Given the description of an element on the screen output the (x, y) to click on. 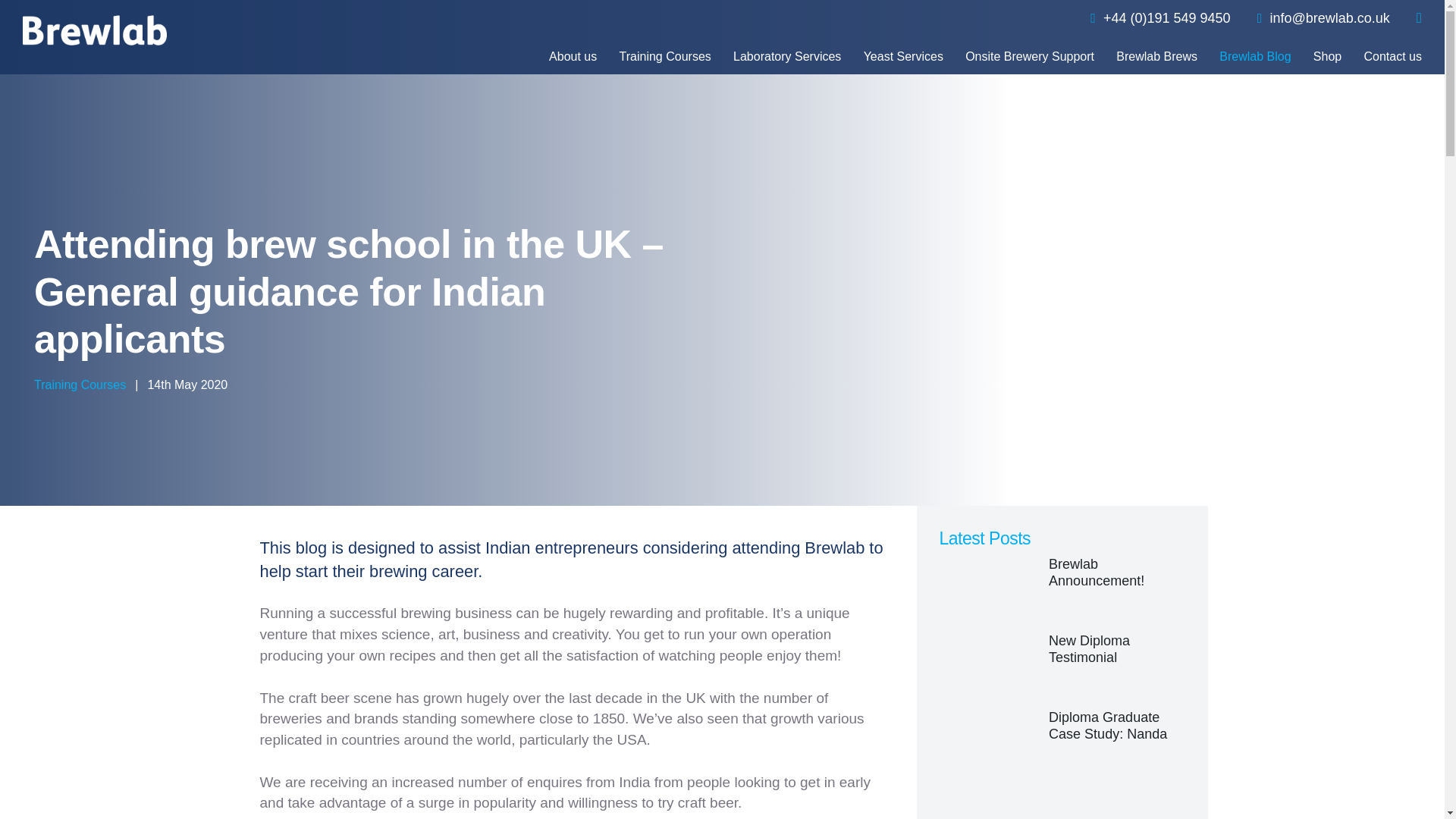
Brewlab Blog (1254, 57)
About us (572, 57)
Contact us (1393, 57)
Onsite Brewery Support (1029, 57)
Shop (1327, 57)
Yeast Services (903, 57)
Training Courses (79, 384)
New Diploma Testimonial (1062, 663)
Brewlab Brews (1156, 57)
Diploma Graduate Case Study: Nanda (1062, 740)
